Given the description of an element on the screen output the (x, y) to click on. 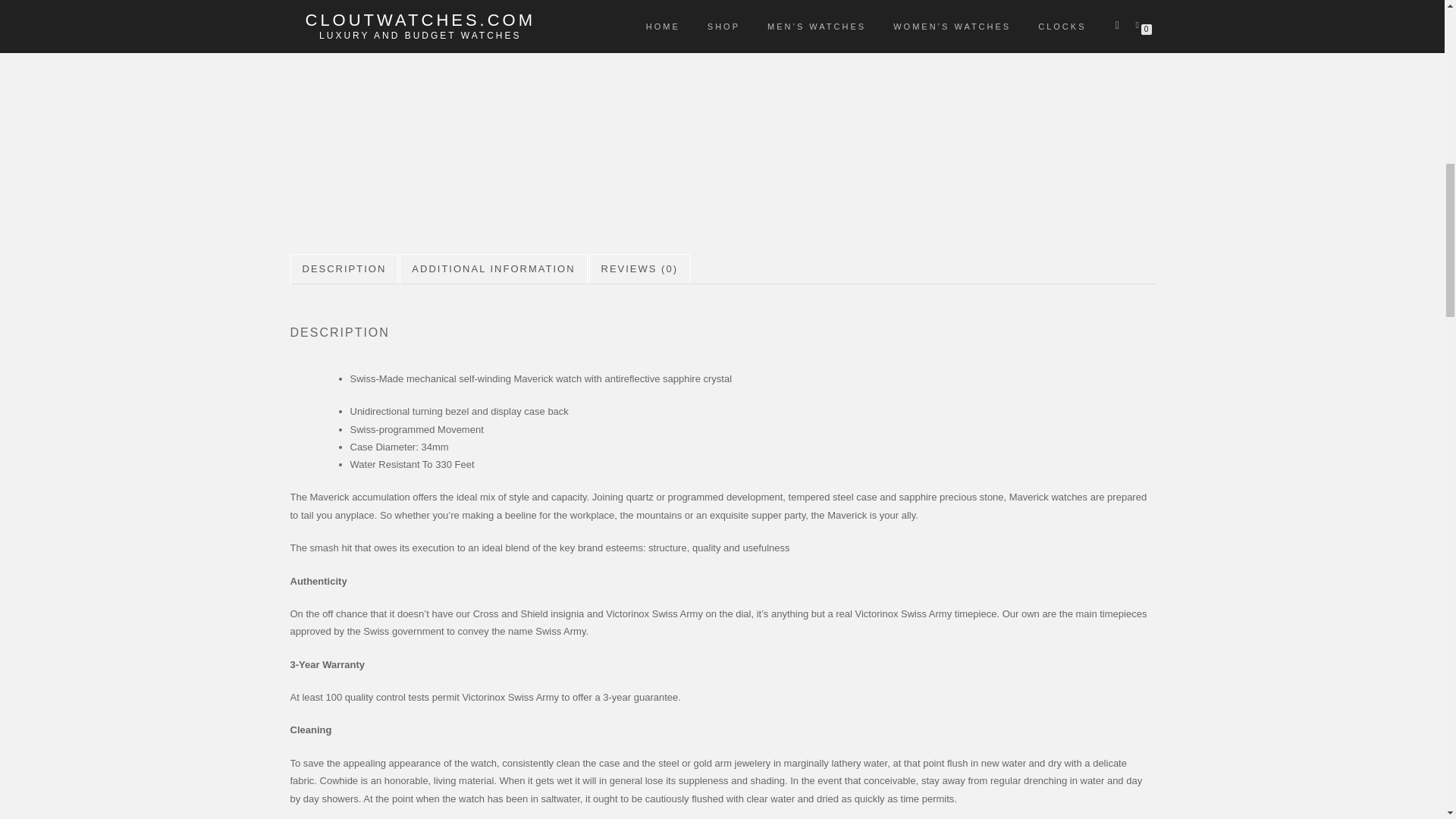
ADDITIONAL INFORMATION (492, 269)
DESCRIPTION (343, 269)
